Given the description of an element on the screen output the (x, y) to click on. 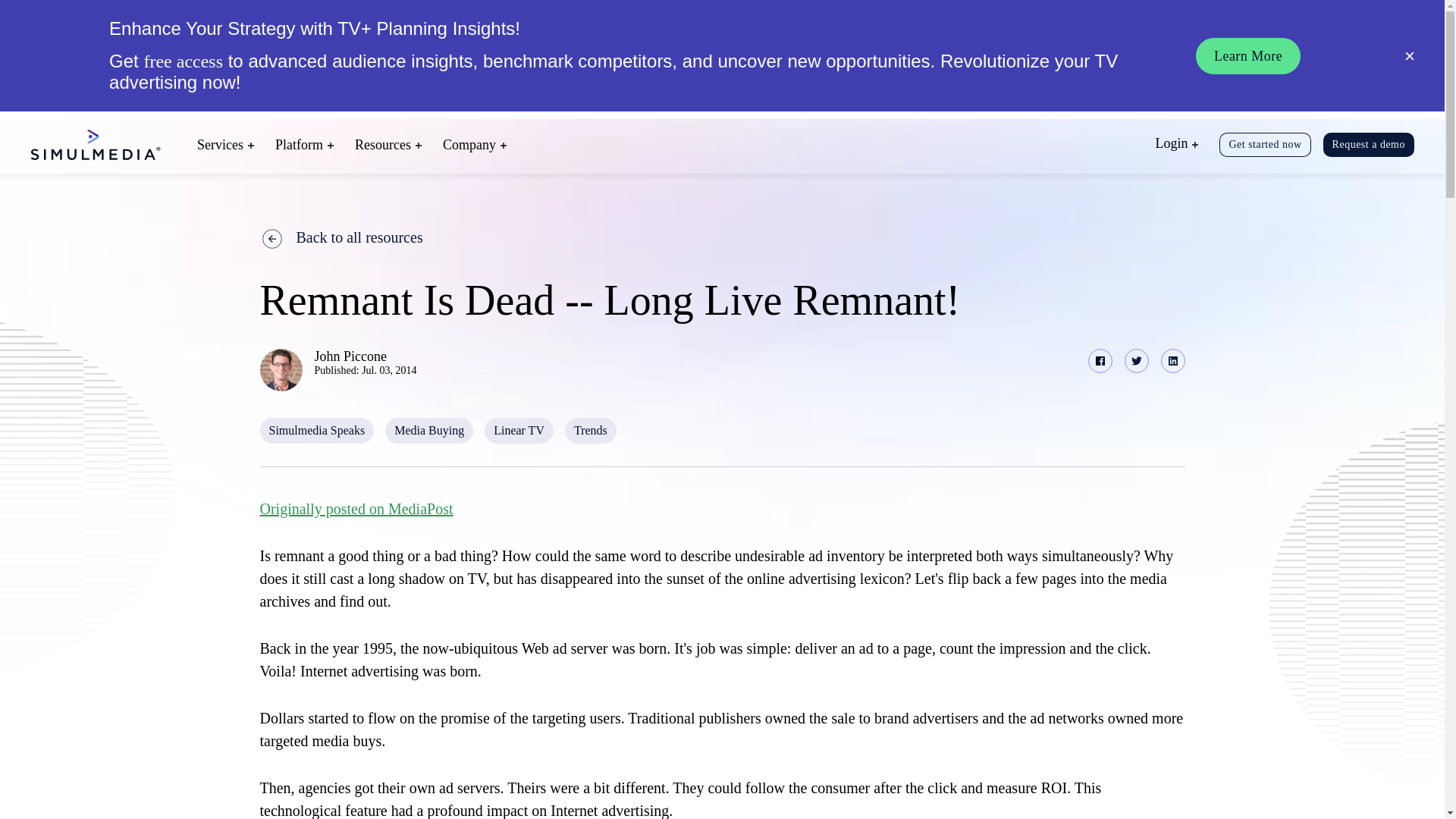
Learn More (1247, 55)
Linear TV (518, 430)
Get started now (1265, 144)
Trends (589, 430)
Back to all resources (722, 237)
Request a demo (1368, 144)
Media Buying (429, 430)
Originally posted on MediaPost (355, 508)
Simulmedia Speaks (316, 430)
